Given the description of an element on the screen output the (x, y) to click on. 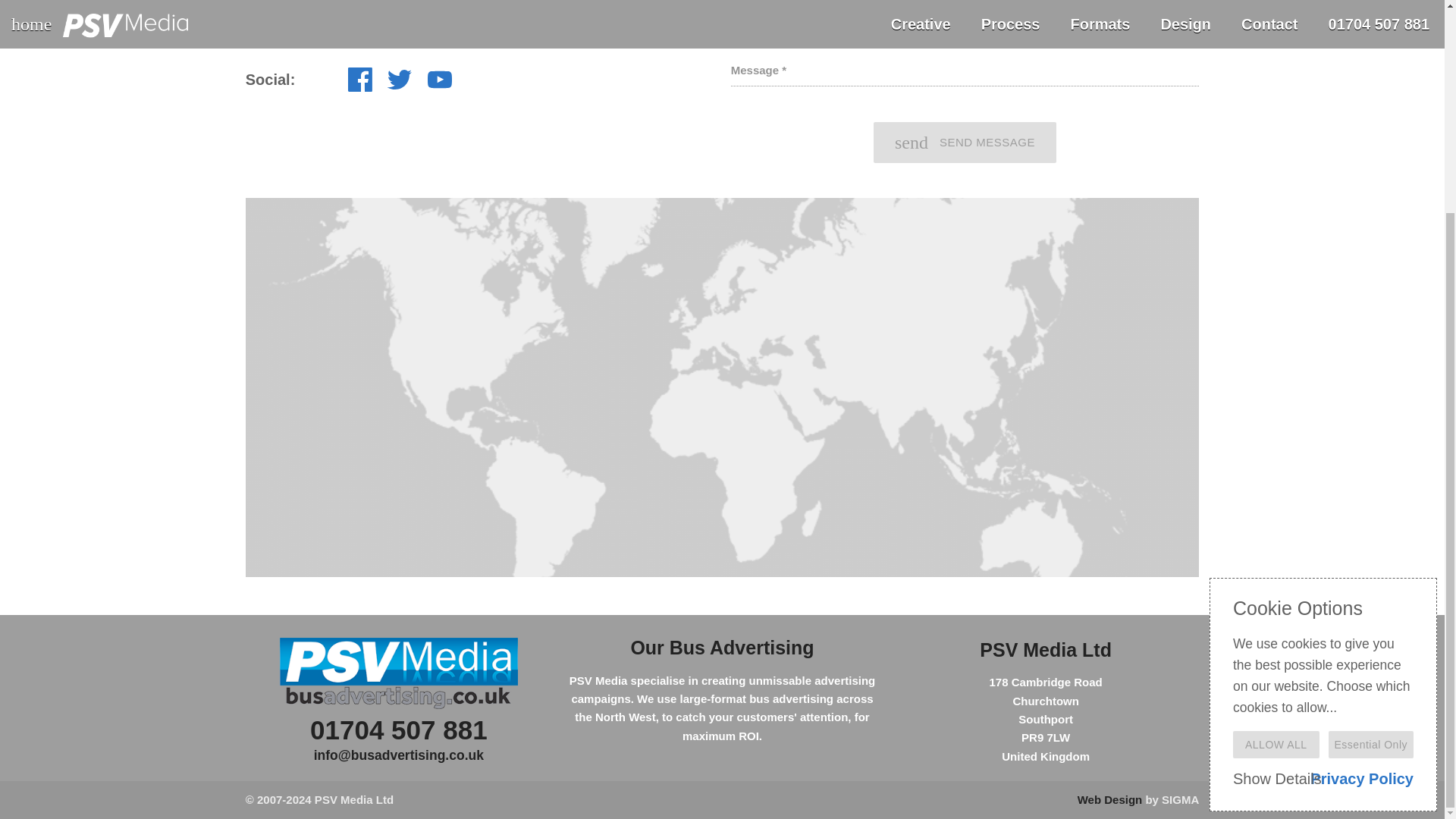
Web Design (1109, 799)
Facebook (359, 86)
Youtube (439, 86)
01704 507 881 (397, 4)
Twitter (399, 86)
Twitter (399, 79)
Essential Only (1370, 465)
01704 507 881 (398, 729)
Privacy Policy (1361, 500)
Youtube (439, 79)
ALLOW ALL (1276, 465)
Facebook (359, 79)
